Given the description of an element on the screen output the (x, y) to click on. 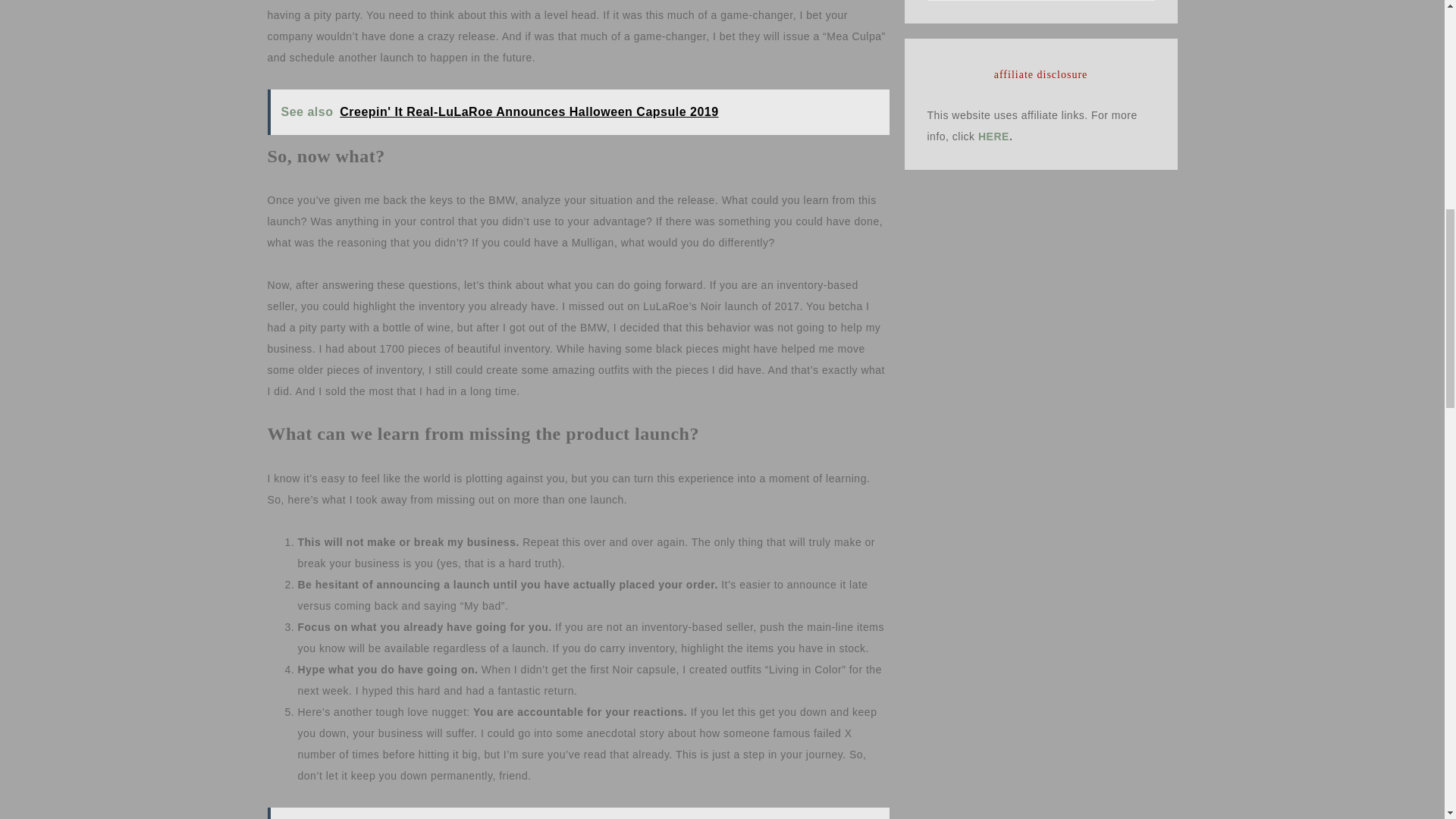
See also  What to Expect as a New LuLaRoe Retailer (577, 813)
